Given the description of an element on the screen output the (x, y) to click on. 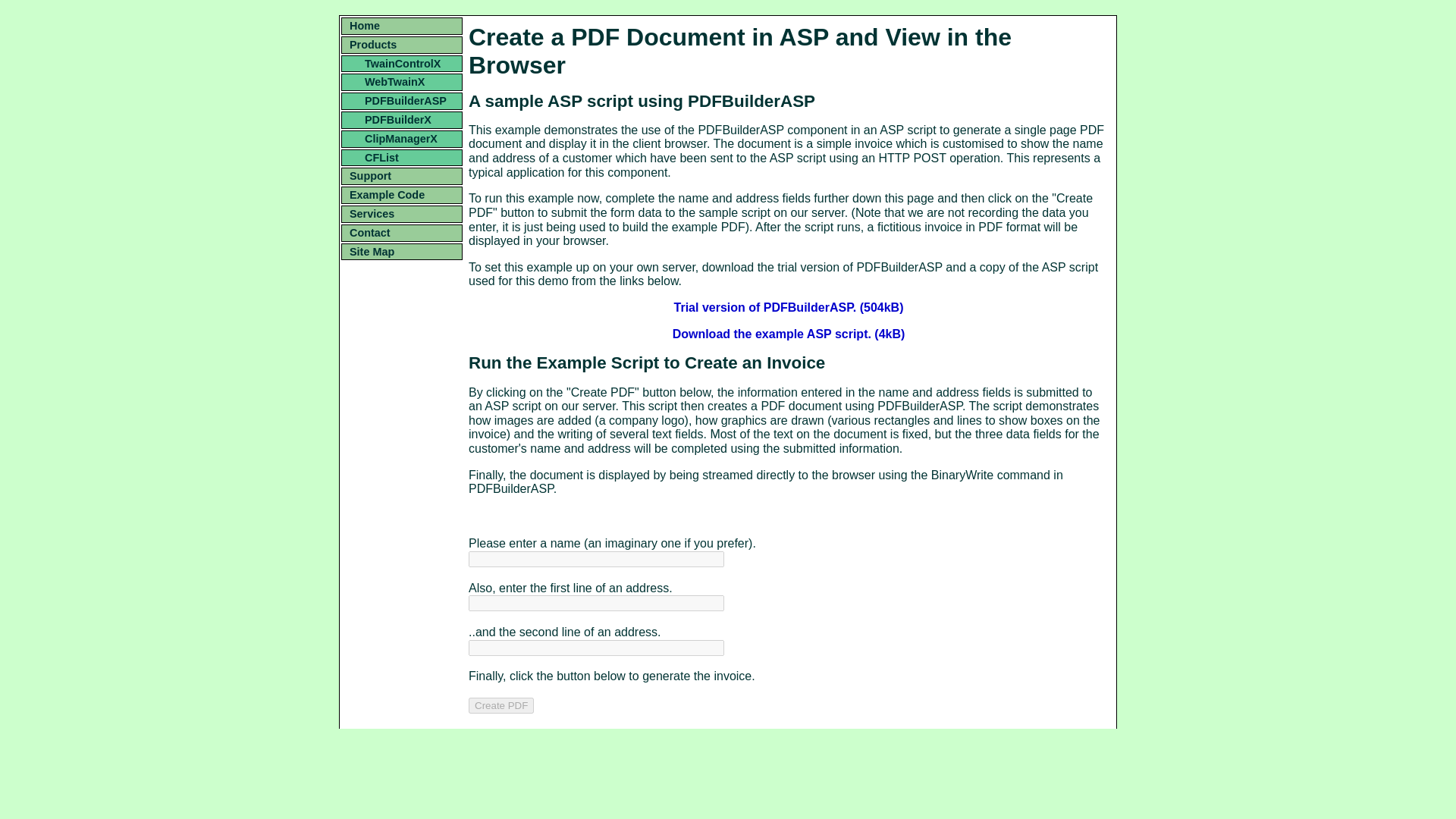
Example Code (401, 195)
Contact (401, 232)
Support (401, 176)
Site Map (401, 252)
TwainControlX (401, 64)
Services (401, 213)
PDFBuilderX (401, 119)
ClipManagerX (401, 139)
Products (401, 44)
CFList (401, 157)
